Given the description of an element on the screen output the (x, y) to click on. 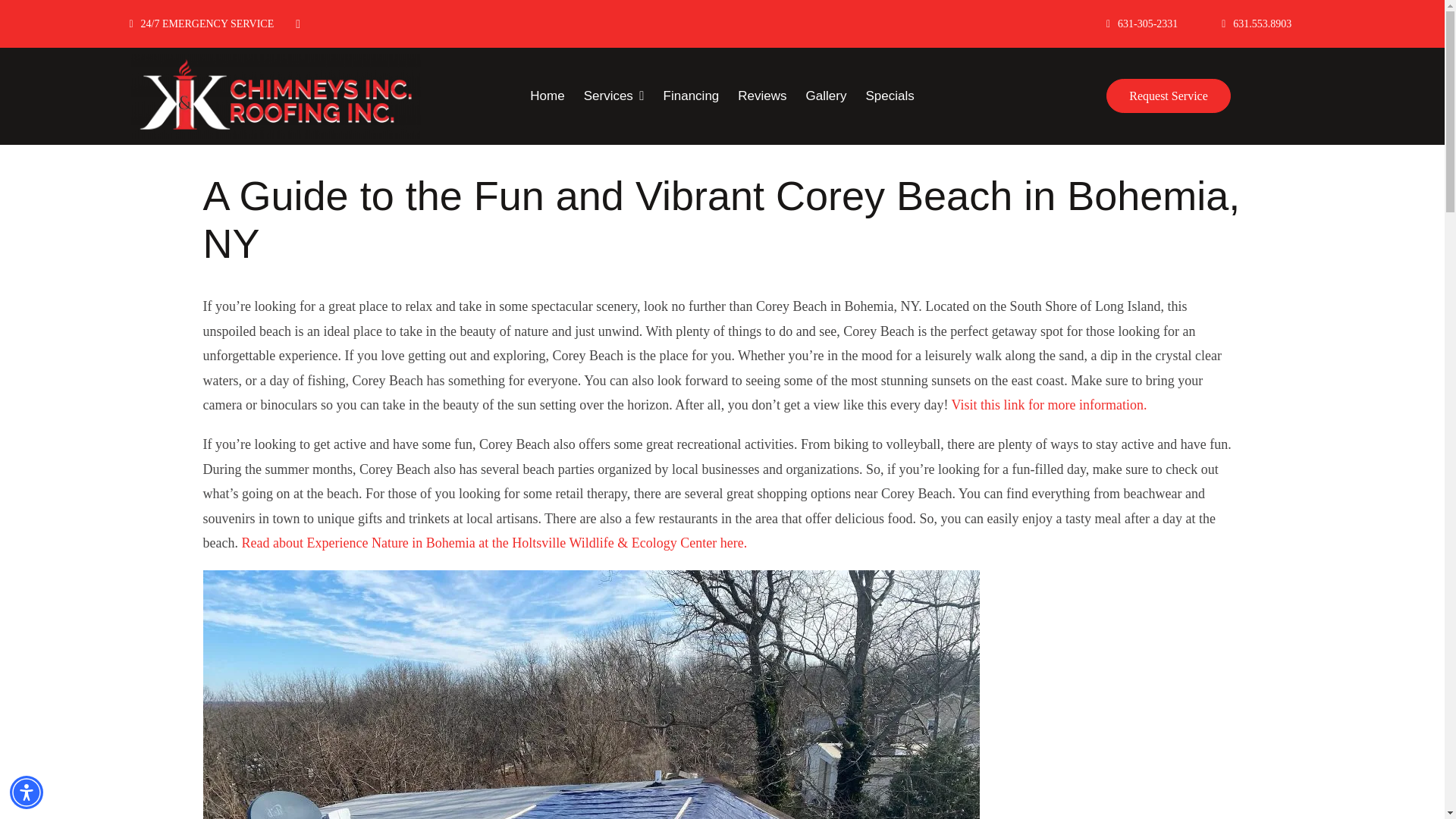
Visit this link for more information. (1049, 404)
Accessibility Menu (26, 792)
Home (547, 96)
Reviews (761, 96)
631.553.8903 (1256, 23)
Request Service (1168, 95)
Financing (691, 96)
Gallery (825, 96)
Specials (889, 96)
Services (614, 96)
631-305-2331 (1141, 23)
